Given the description of an element on the screen output the (x, y) to click on. 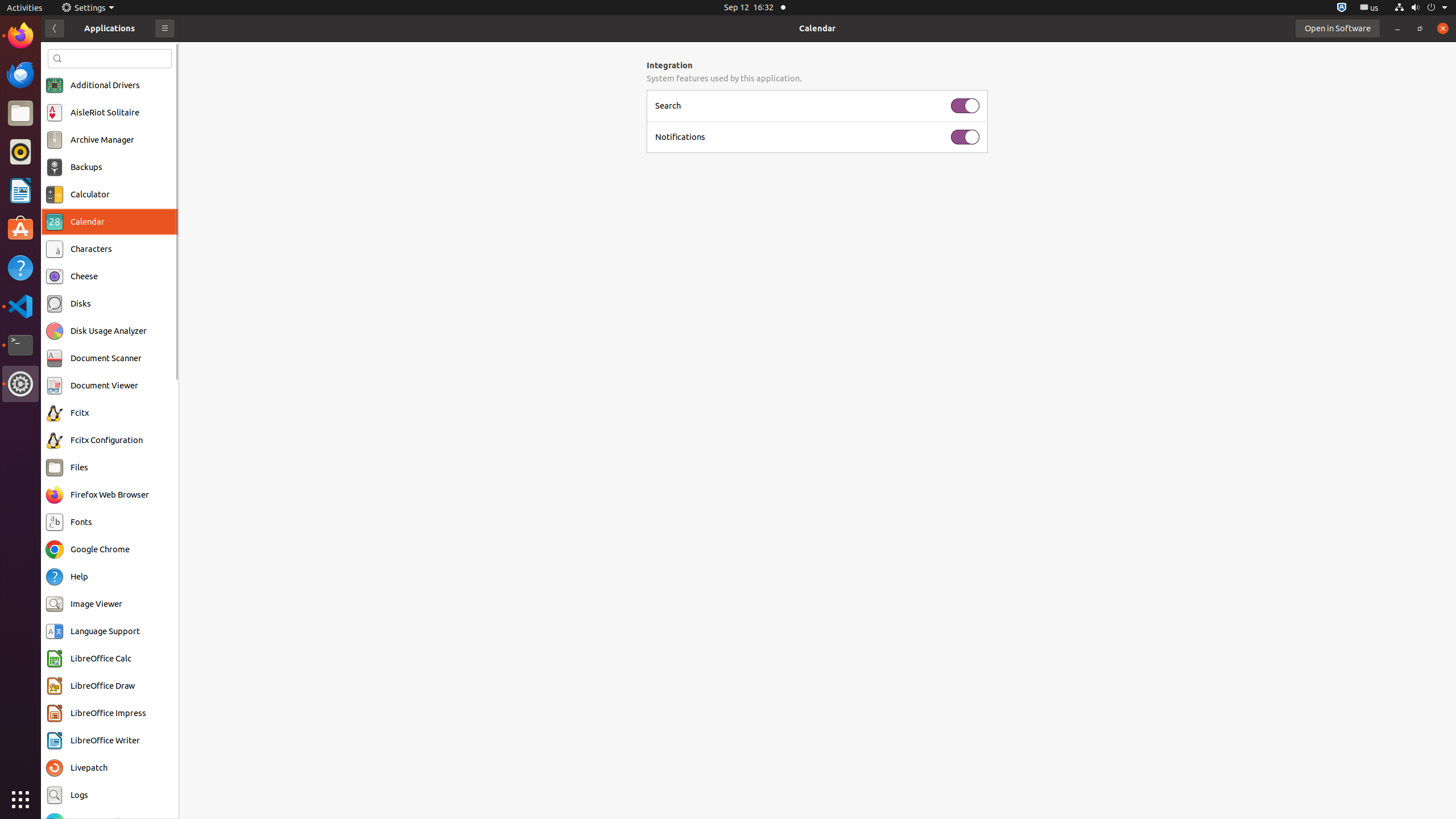
Cheese Element type: label (83, 276)
Minimize Element type: push-button (1397, 27)
Notifications Element type: label (799, 136)
